Given the description of an element on the screen output the (x, y) to click on. 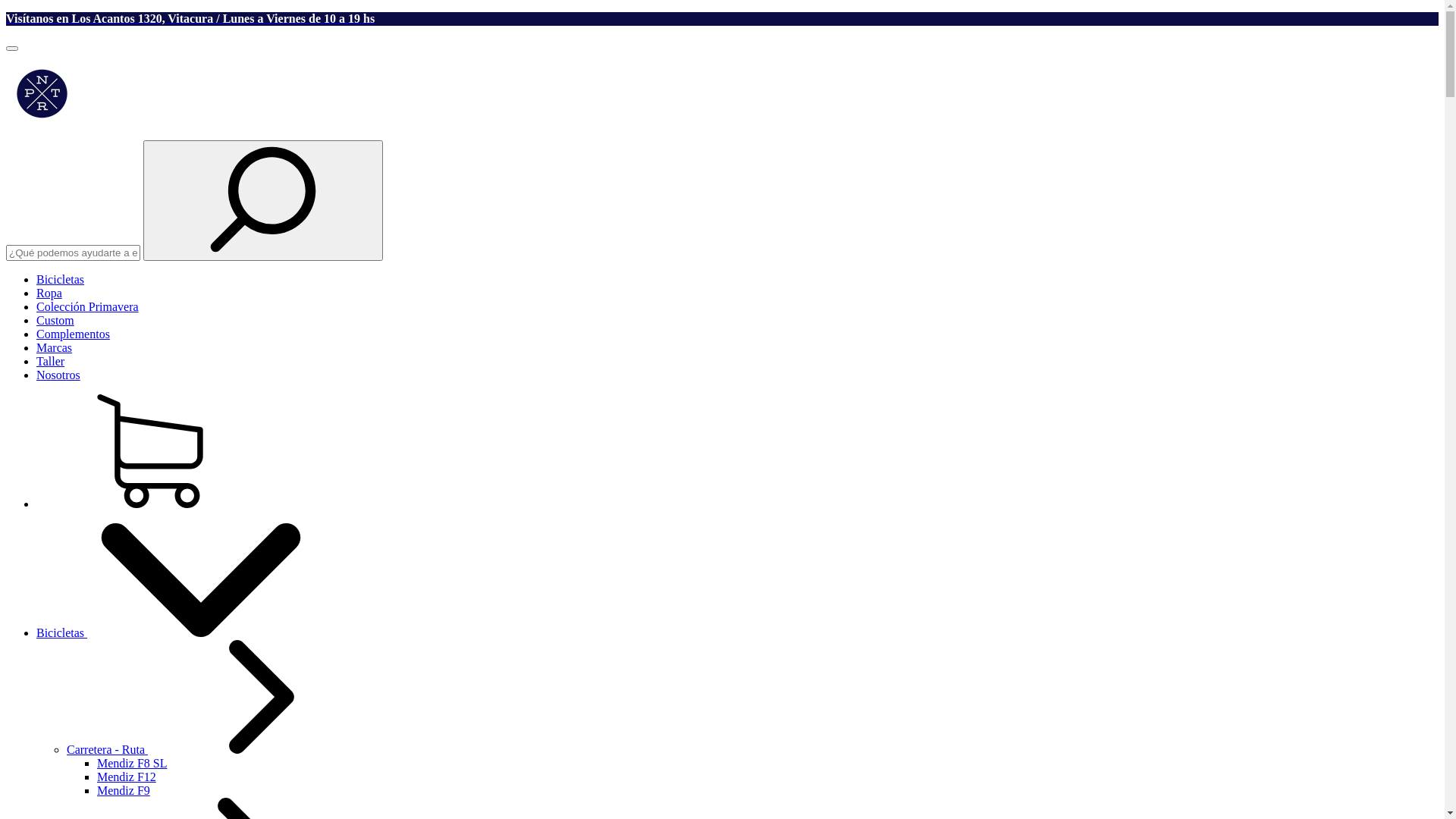
Taller Element type: text (50, 360)
Bicicletas Element type: text (60, 279)
Custom Element type: text (55, 319)
Mendiz F9 Element type: text (123, 790)
Complementos Element type: text (72, 333)
Carretera - Ruta Element type: text (220, 749)
Ropa Element type: text (49, 292)
Nosotros Element type: text (58, 374)
Mendiz F12 Element type: text (126, 776)
Marcas Element type: text (54, 347)
Mendiz F8 SL Element type: text (131, 762)
Bicicletas Element type: text (175, 632)
